Given the description of an element on the screen output the (x, y) to click on. 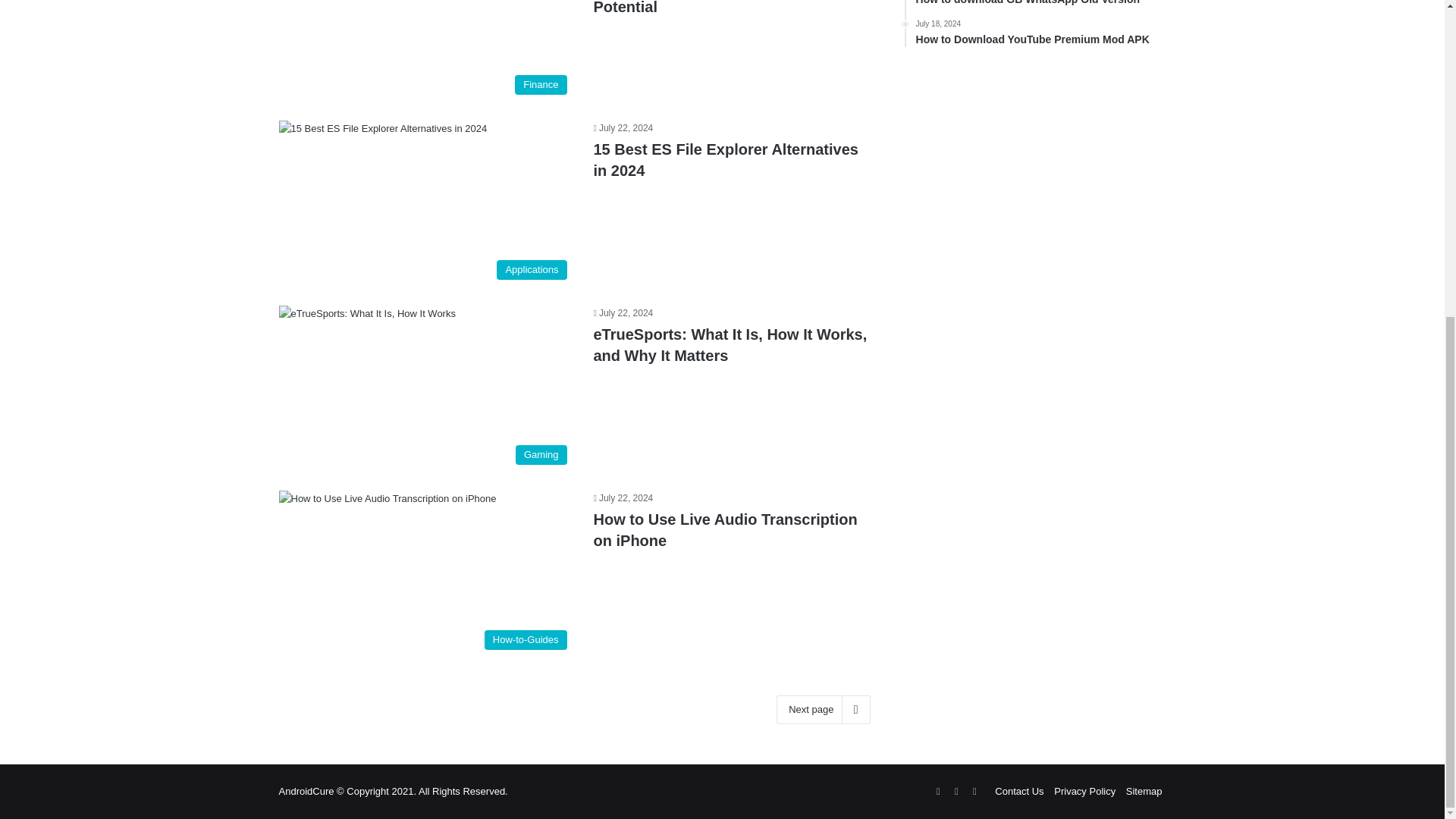
15 Best ES File Explorer Alternatives in 2024 (724, 159)
Privacy Policy (1084, 790)
How to Use Live Audio Transcription on iPhone (724, 529)
Next page (822, 709)
How-to-Guides (427, 573)
Sitemap (1143, 790)
Applications (427, 203)
RSS (1040, 33)
eTrueSports: What It Is, How It Works, and Why It Matters (937, 791)
X (729, 344)
Gaming (974, 791)
Contact Us (1040, 3)
